Given the description of an element on the screen output the (x, y) to click on. 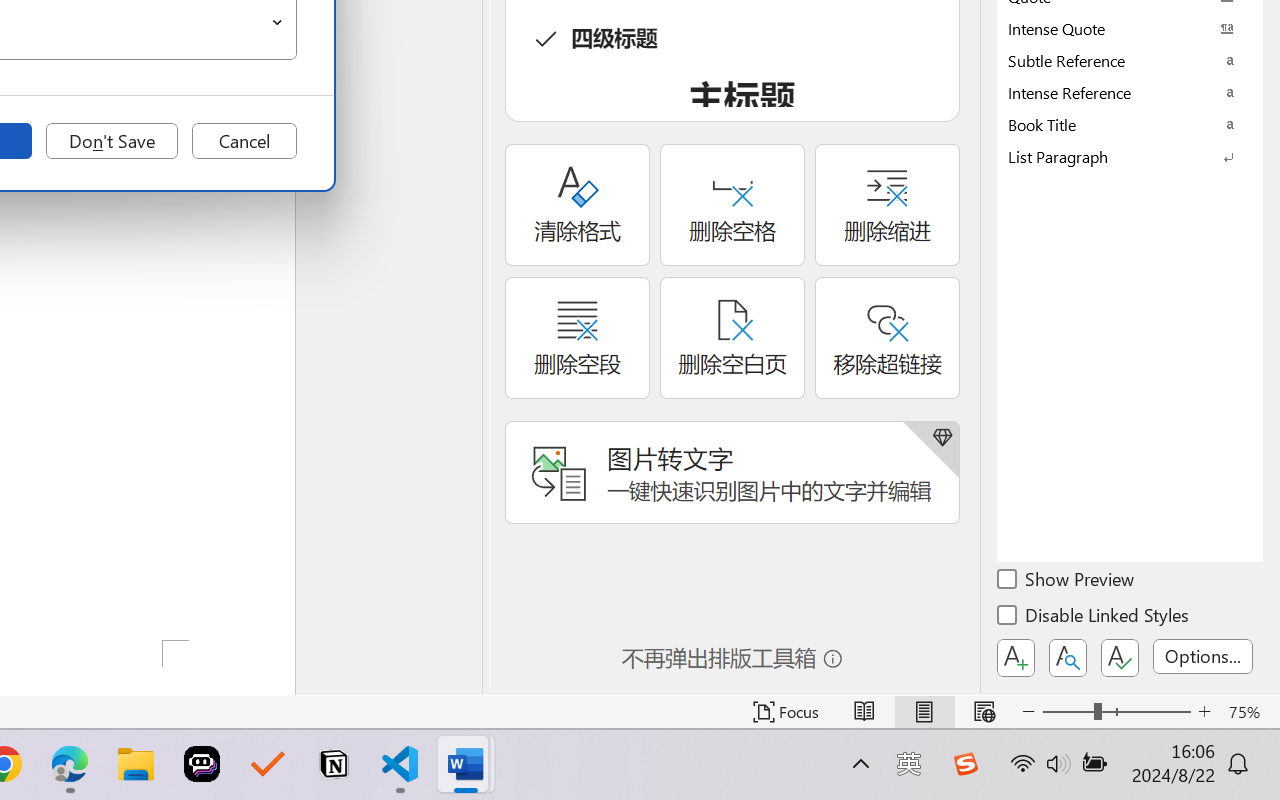
Class: Image (965, 764)
Show Preview (1067, 582)
Focus  (786, 712)
